Given the description of an element on the screen output the (x, y) to click on. 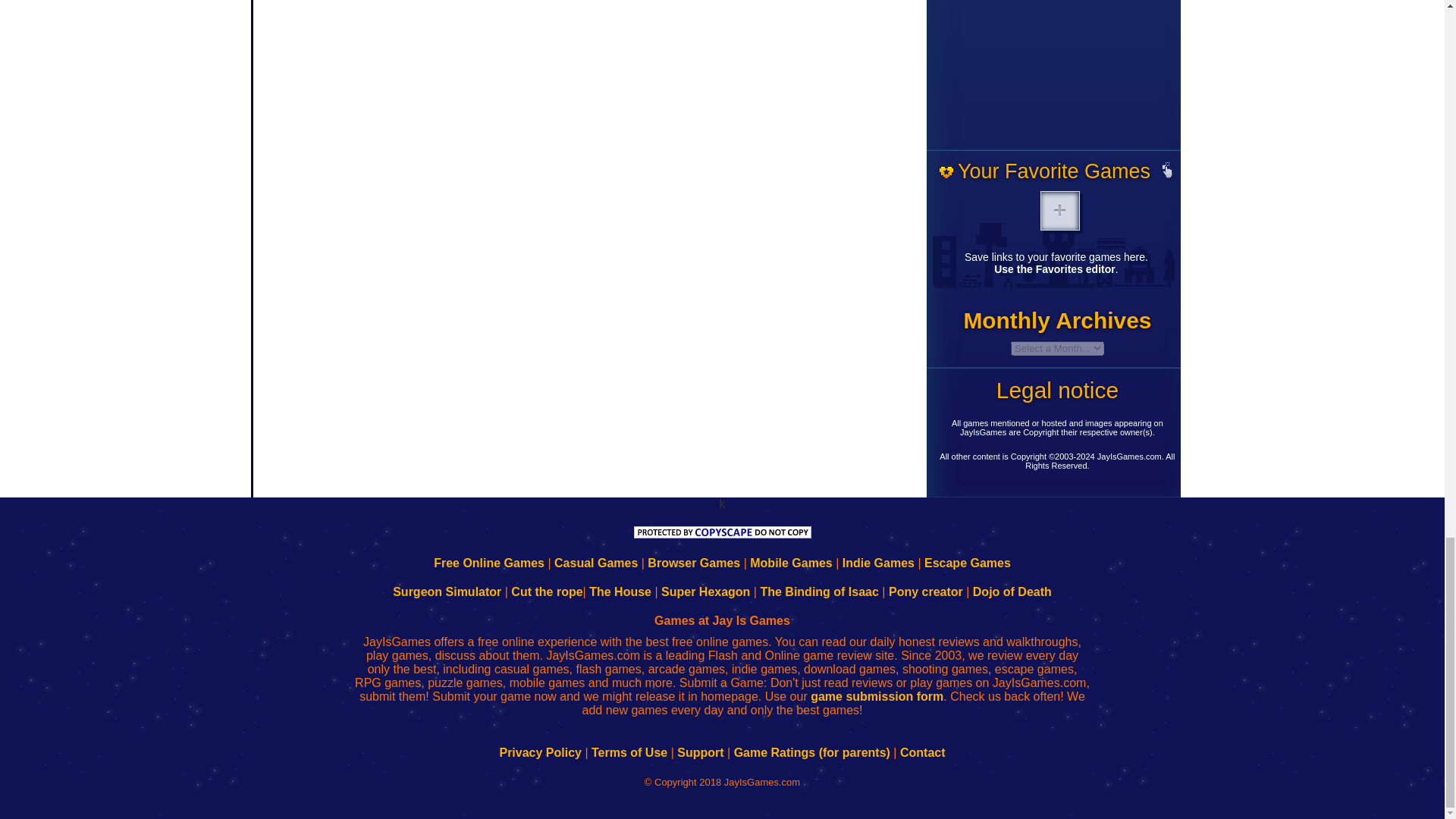
Free Online Games (488, 562)
Indie Games (878, 562)
Choose or change which games appear here (1167, 170)
Casual Games (595, 562)
Browser Games (693, 562)
Mobile Games (790, 562)
